Given the description of an element on the screen output the (x, y) to click on. 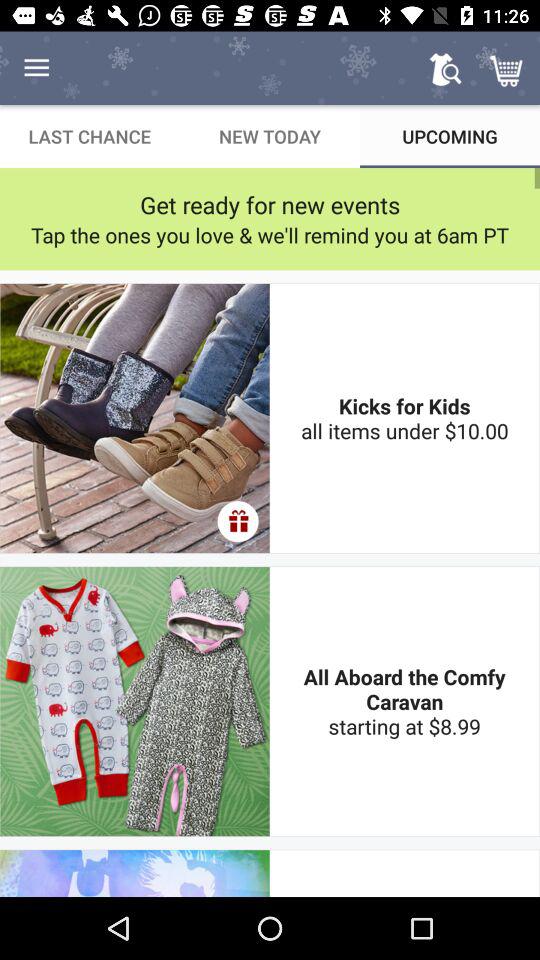
swipe to the tap the ones item (270, 234)
